Given the description of an element on the screen output the (x, y) to click on. 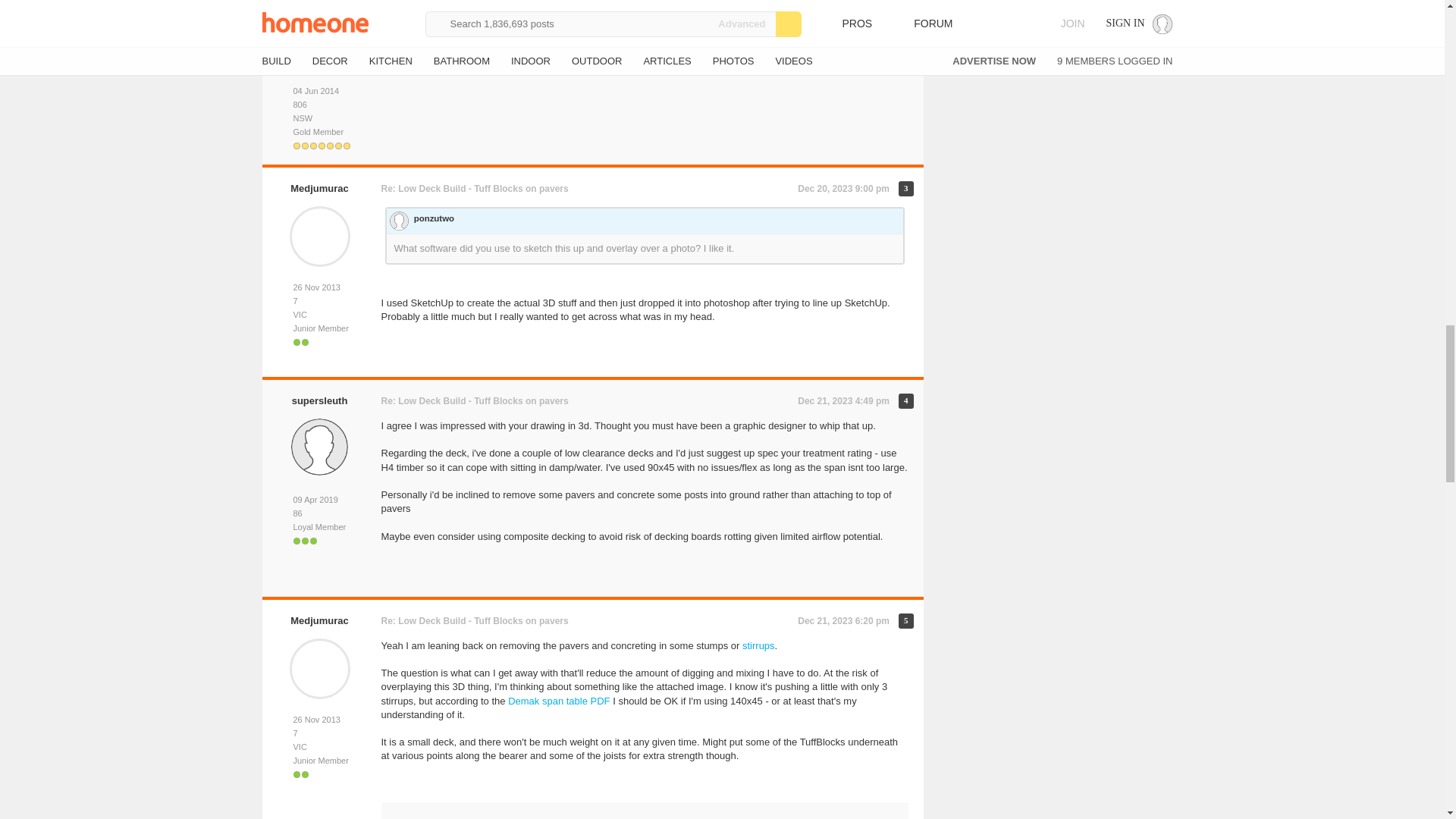
3 of 7 posts (906, 188)
Joined (319, 287)
Joined (319, 91)
4 of 7 posts (906, 400)
Location (319, 315)
Posts (319, 104)
Joined (319, 500)
Location (319, 118)
Posts (319, 513)
Posts (319, 301)
